Given the description of an element on the screen output the (x, y) to click on. 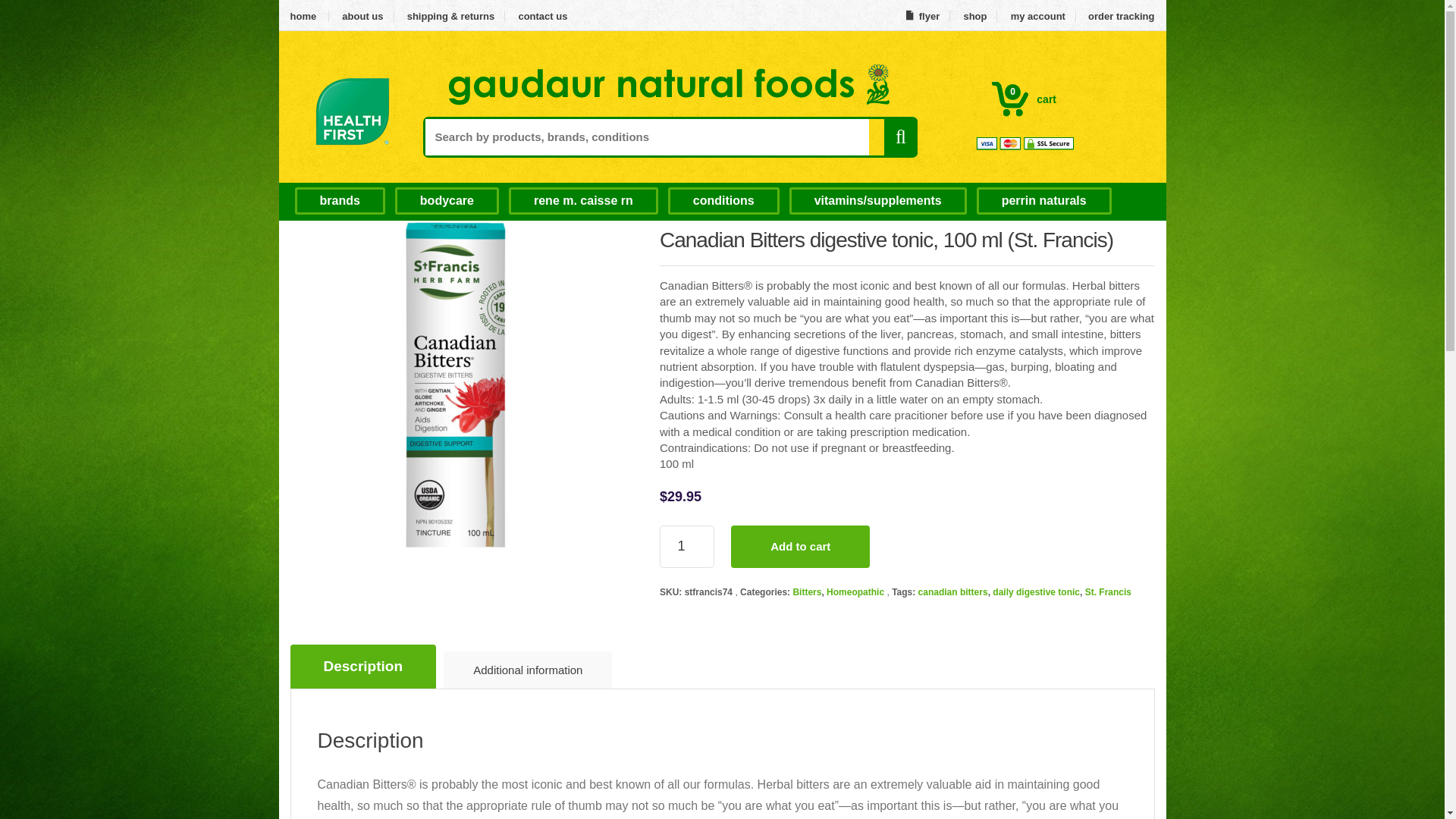
contact us (1024, 98)
my account (542, 16)
bodycare (1038, 16)
rene m. caisse rn (446, 200)
flyer (583, 200)
flyer (921, 16)
brands (921, 16)
contact us (339, 200)
my account (542, 16)
home (1038, 16)
bodycare (309, 16)
home (446, 200)
1 (309, 16)
order tracking (686, 546)
